Given the description of an element on the screen output the (x, y) to click on. 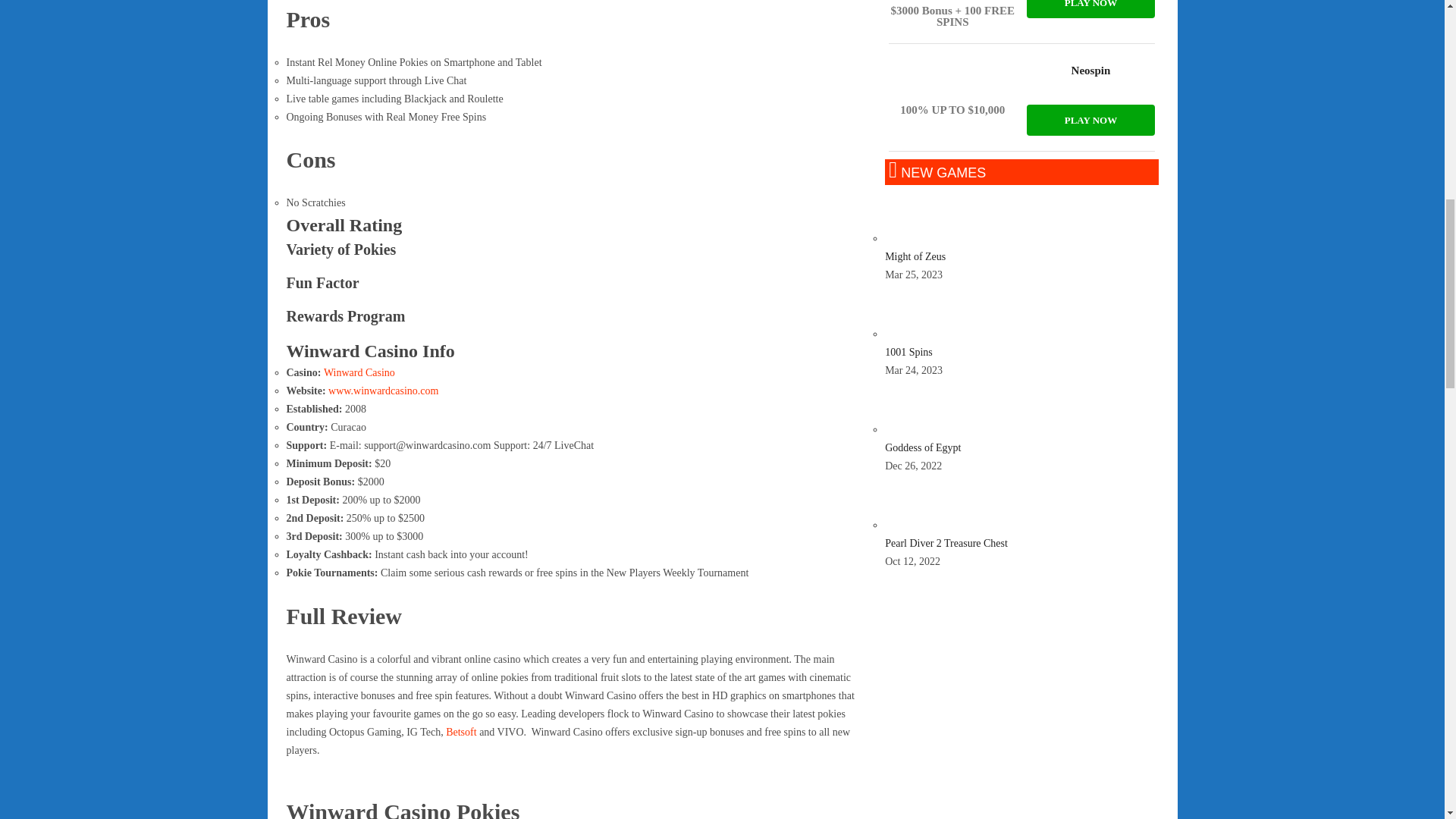
Neospin (952, 79)
Betsoft (460, 731)
